Given the description of an element on the screen output the (x, y) to click on. 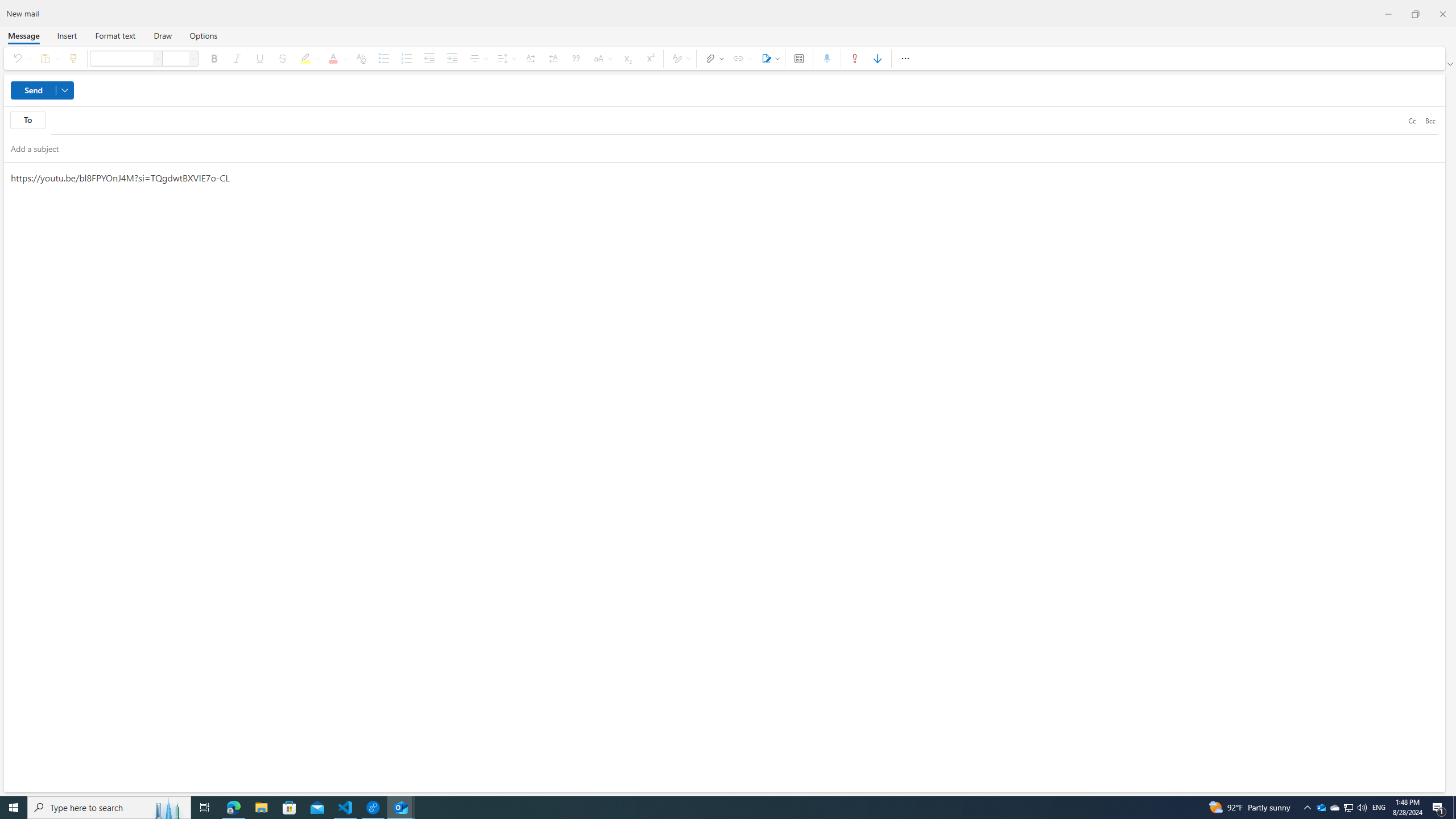
Send (42, 90)
Italic (236, 58)
System (6, 6)
Spacing (505, 58)
Apps (798, 58)
Font (121, 58)
Message body, press Alt+F10 to exit (724, 476)
Left-to-right (530, 58)
Superscript (649, 58)
Signature (768, 58)
Right-to-left (552, 58)
System (6, 6)
Clear formatting (360, 58)
Draw (162, 35)
